Given the description of an element on the screen output the (x, y) to click on. 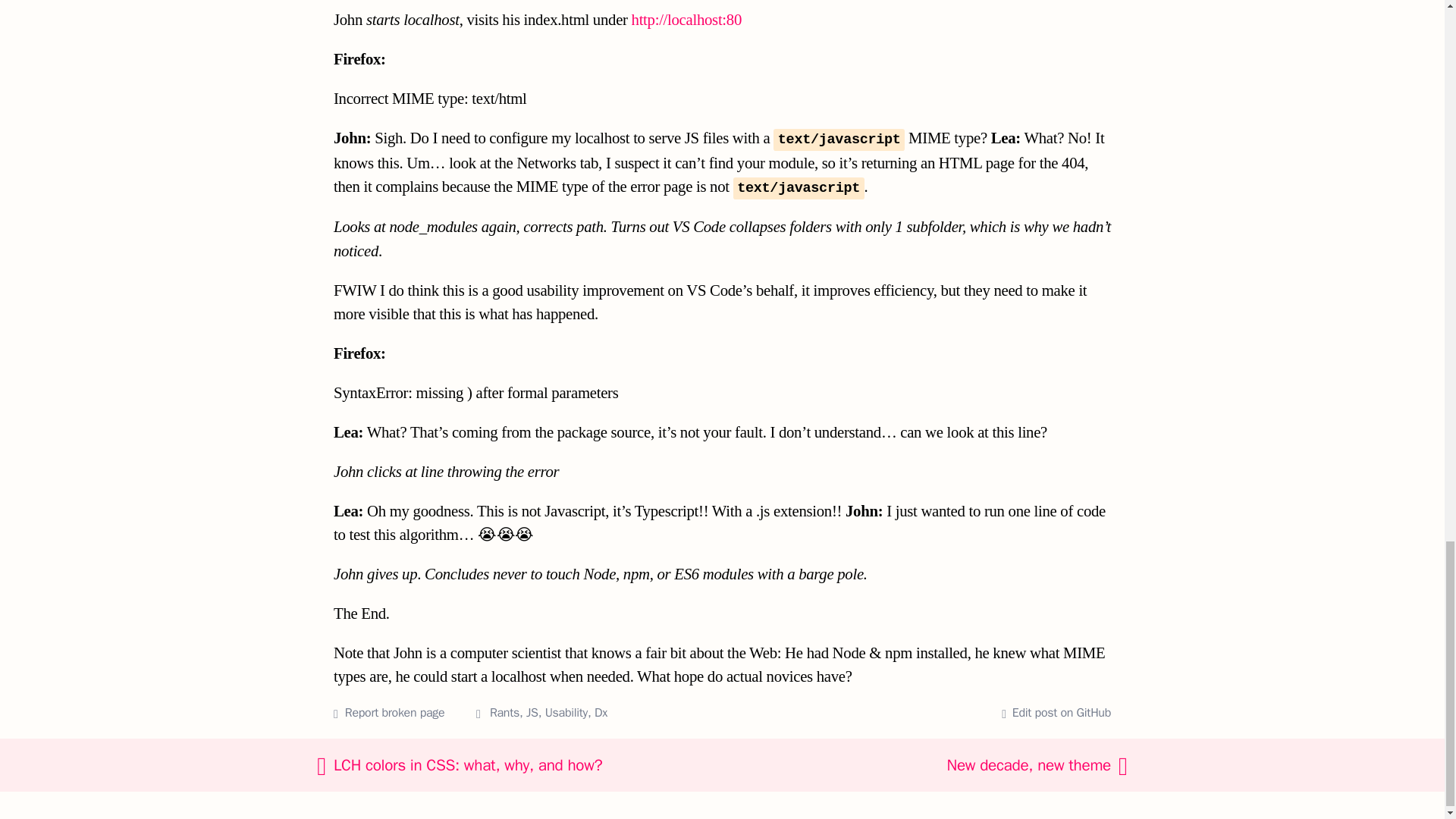
13 posts with this tag (504, 712)
New decade, new theme (950, 764)
Report broken page (394, 712)
Edit post on GitHub (1055, 713)
Usability (566, 712)
LCH colors in CSS: what, why, and how? (545, 764)
13 posts with this tag (566, 712)
Rants (504, 712)
